Given the description of an element on the screen output the (x, y) to click on. 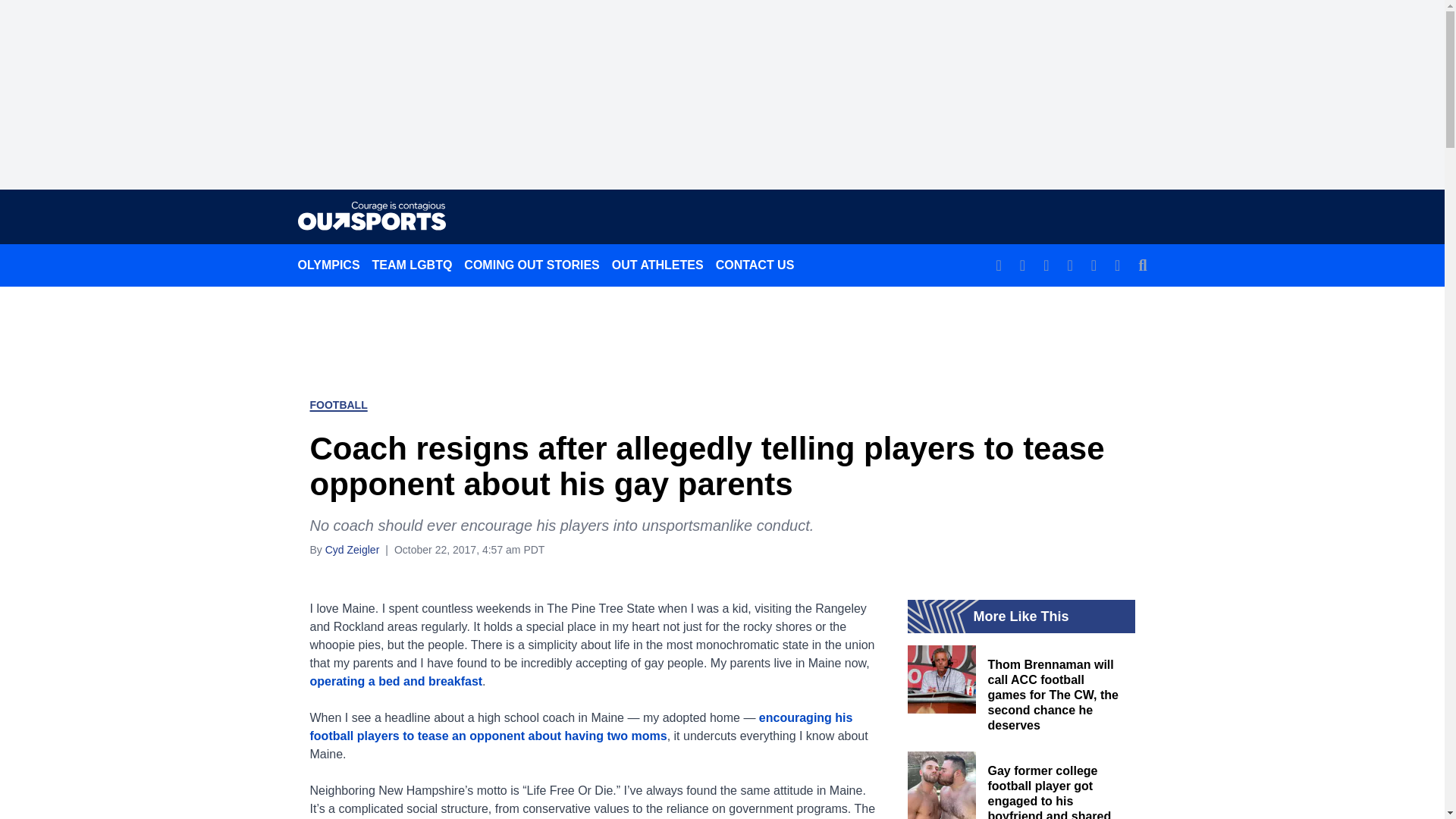
FOOTBALL (337, 404)
TEAM LGBTQ (412, 265)
CONTACT US (755, 265)
Facebook (1022, 265)
operating a bed and breakfast (394, 680)
Newsletter (998, 265)
Threads (1093, 265)
COMING OUT STORIES (531, 265)
Twitter (1069, 265)
Instagram (1045, 265)
OUT ATHLETES (657, 265)
OLYMPICS (328, 265)
